Given the description of an element on the screen output the (x, y) to click on. 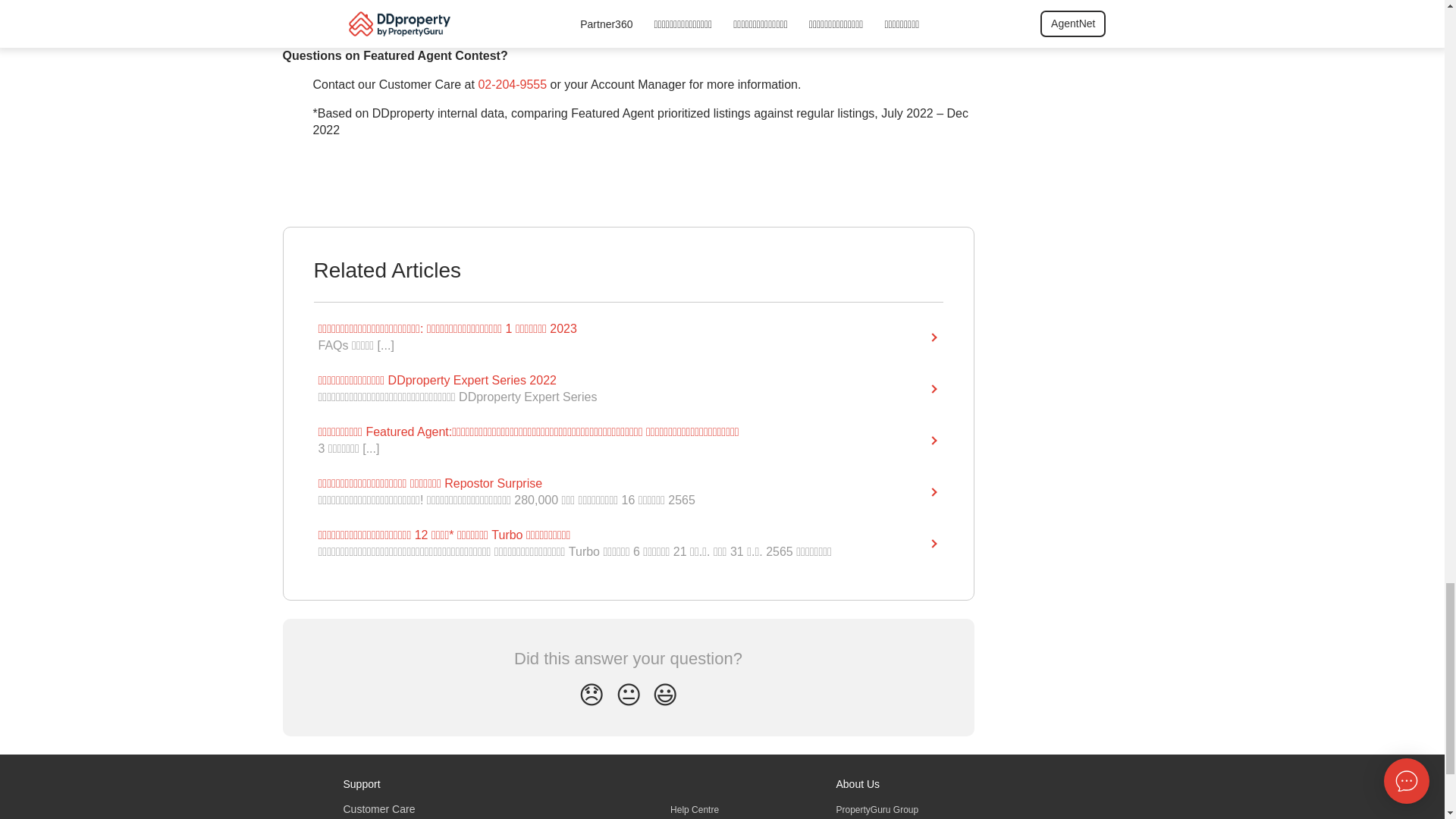
02-204-9555 (512, 95)
